Given the description of an element on the screen output the (x, y) to click on. 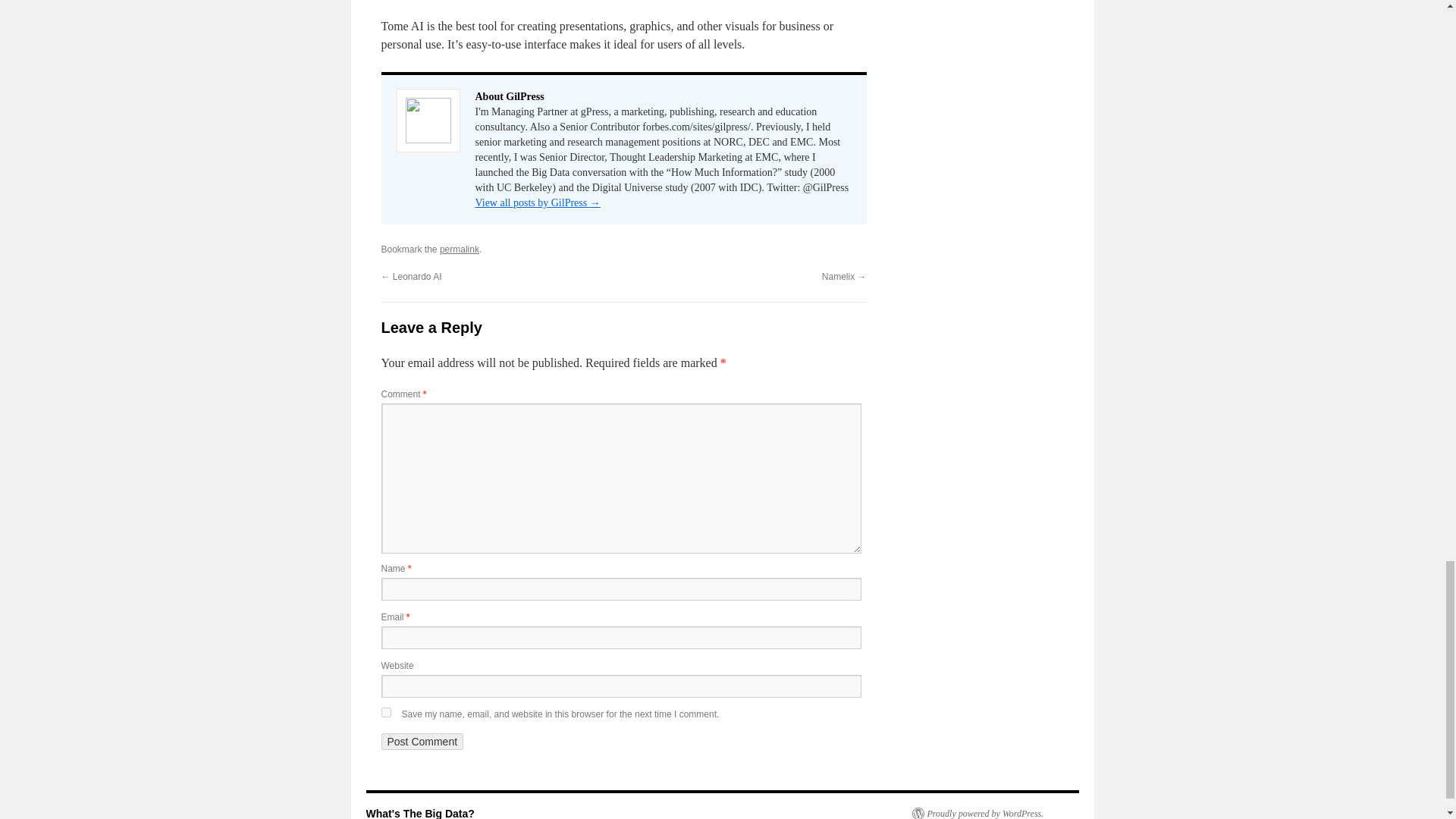
Permalink to Tome AI (459, 249)
Post Comment (421, 741)
Post Comment (421, 741)
permalink (459, 249)
yes (385, 712)
